Given the description of an element on the screen output the (x, y) to click on. 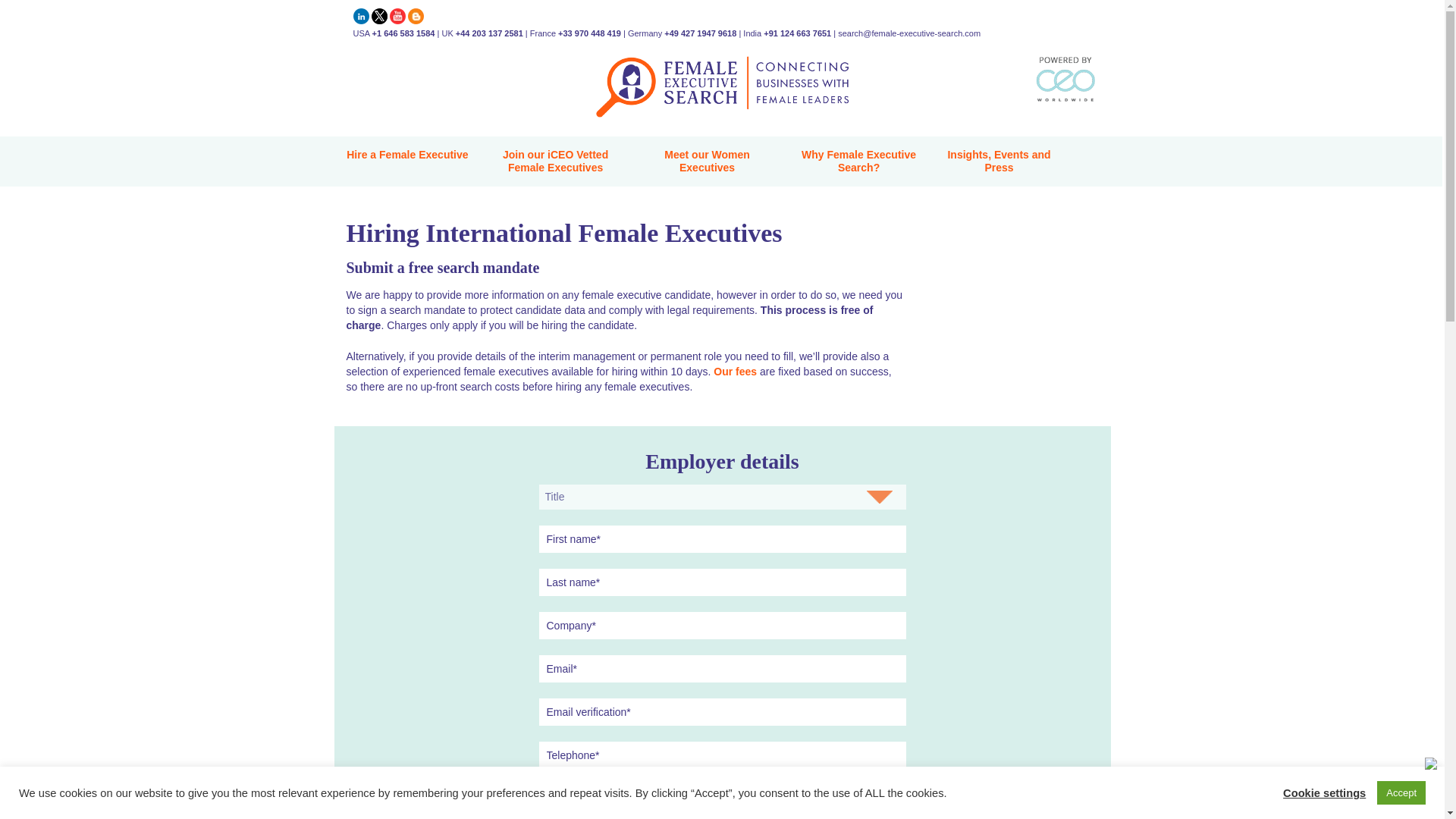
Our fees (735, 371)
Hire a Female Executive (406, 157)
Join our iCEO Vetted Female Executives (555, 163)
Why Female Executive Search? (858, 163)
Meet our Women Executives (707, 163)
Insights, Events and Press (999, 163)
